Given the description of an element on the screen output the (x, y) to click on. 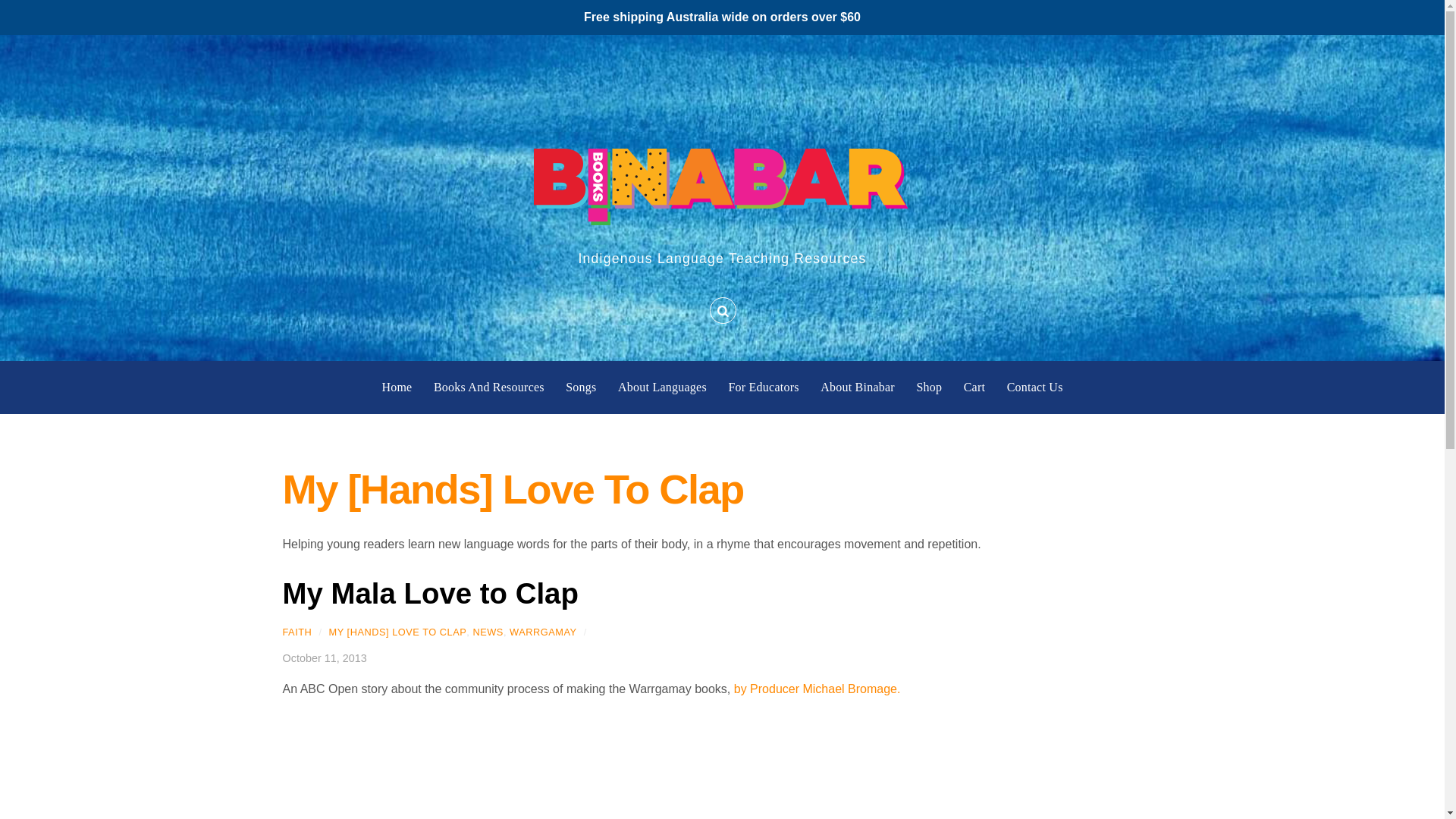
ABC Open  (817, 688)
About Languages (661, 387)
Binabar Books (721, 180)
WARRGAMAY (542, 632)
About Binabar (858, 387)
FAITH (296, 632)
Contact Us (1034, 387)
NEWS (486, 632)
For Educators (762, 387)
My Mala Love to Clap (430, 593)
